Given the description of an element on the screen output the (x, y) to click on. 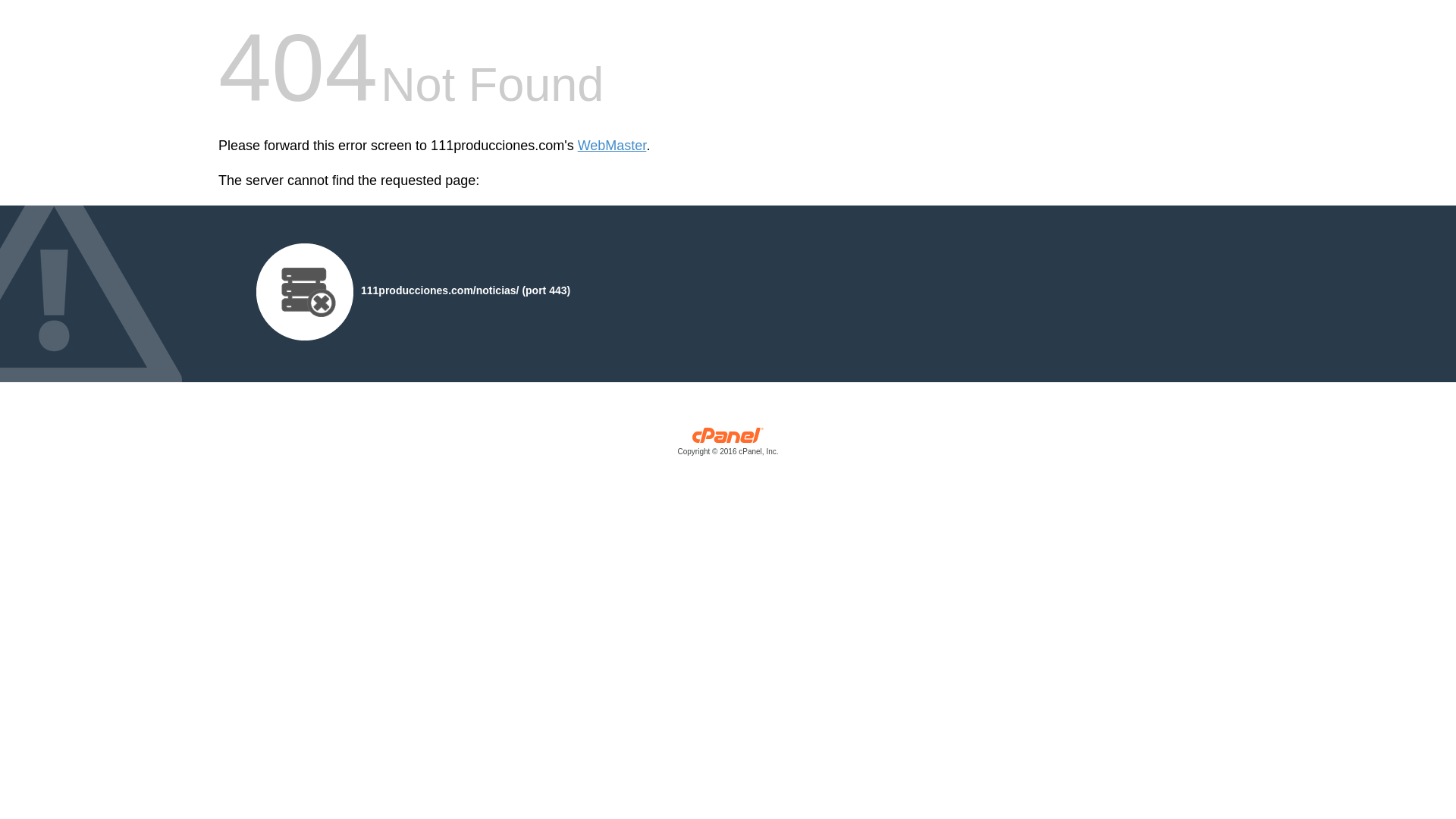
WebMaster Element type: text (611, 145)
